Given the description of an element on the screen output the (x, y) to click on. 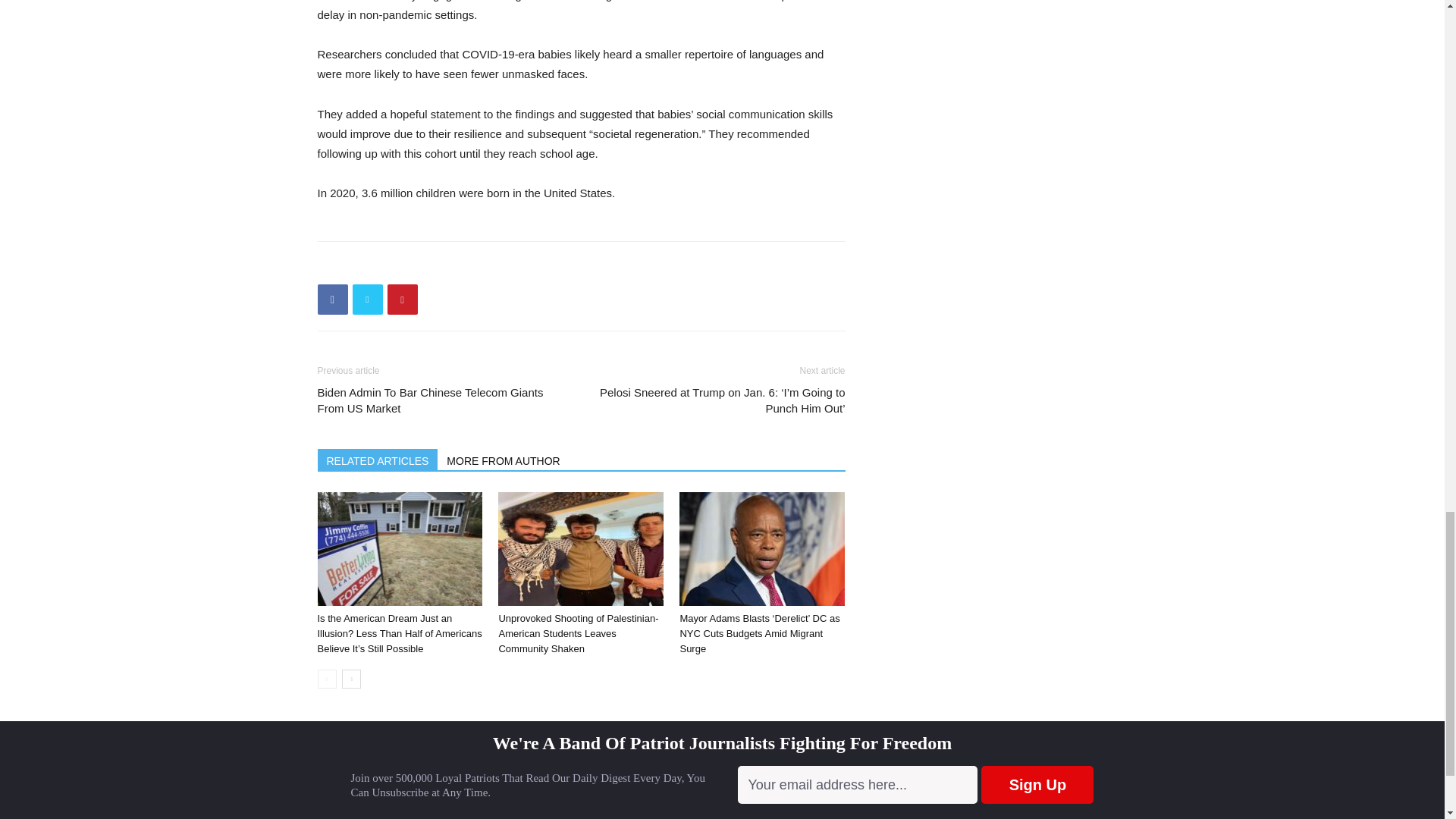
Biden Admin To Bar Chinese Telecom Giants From US Market (439, 400)
RELATED ARTICLES (377, 459)
